Given the description of an element on the screen output the (x, y) to click on. 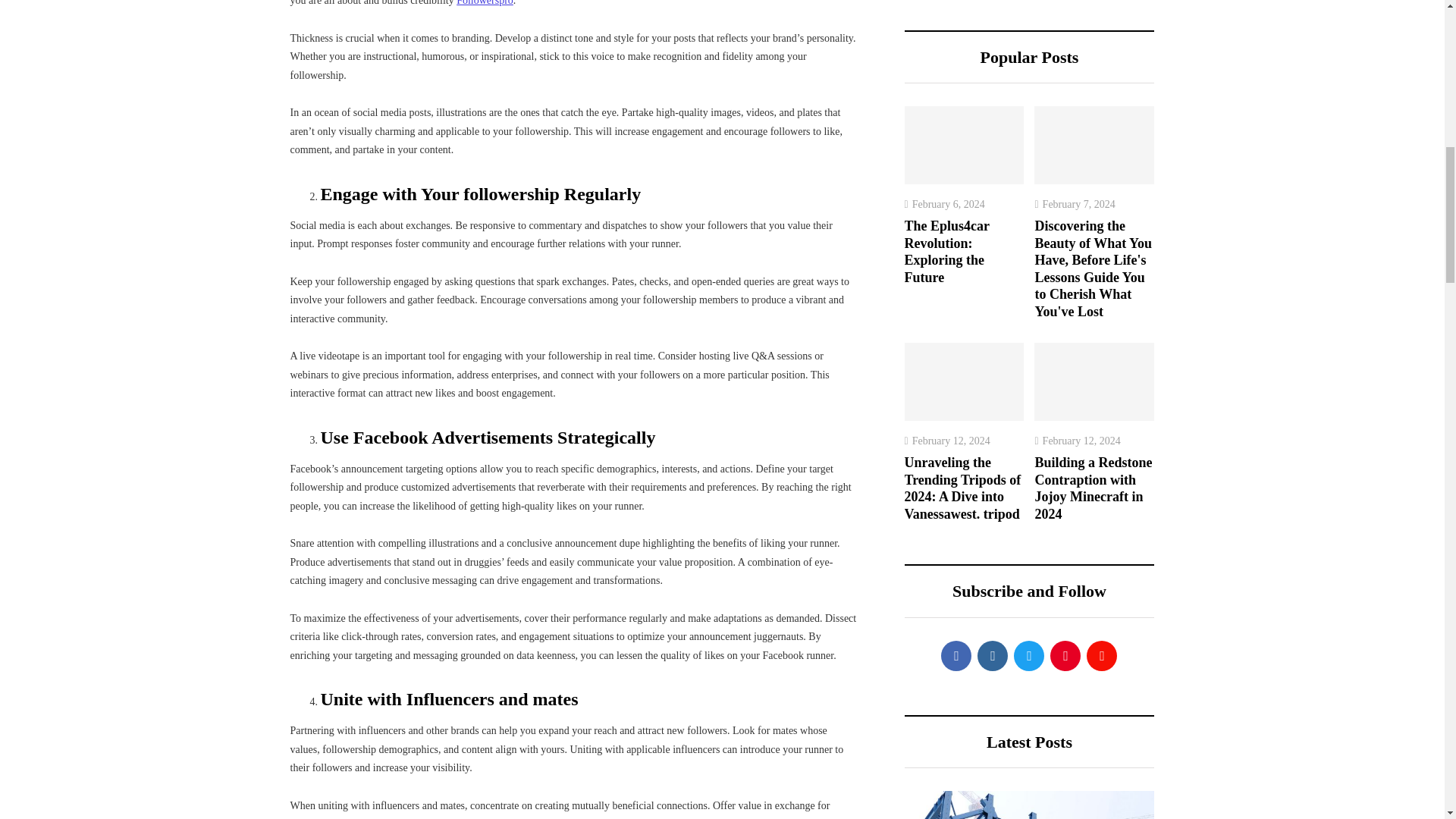
Followerspro (485, 2)
